Given the description of an element on the screen output the (x, y) to click on. 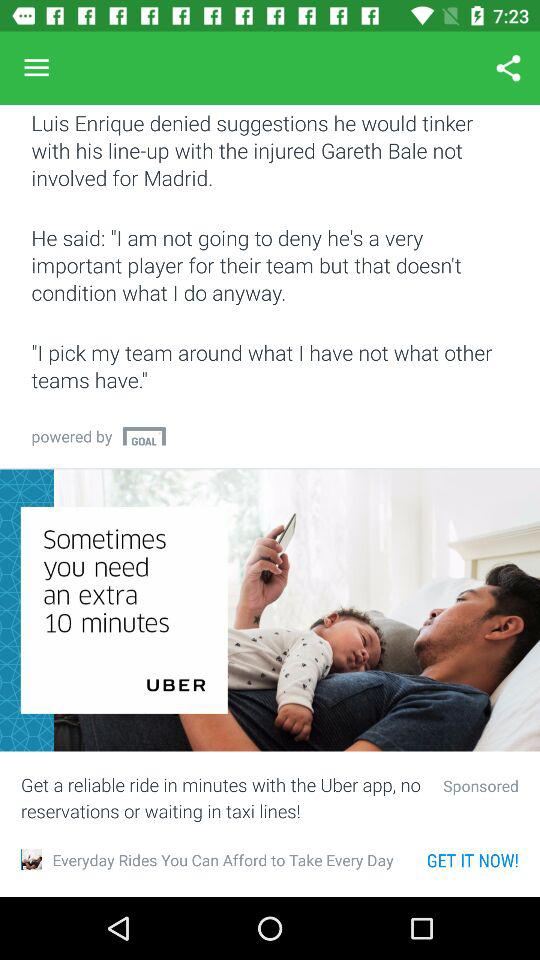
select share symbol (508, 68)
